Given the description of an element on the screen output the (x, y) to click on. 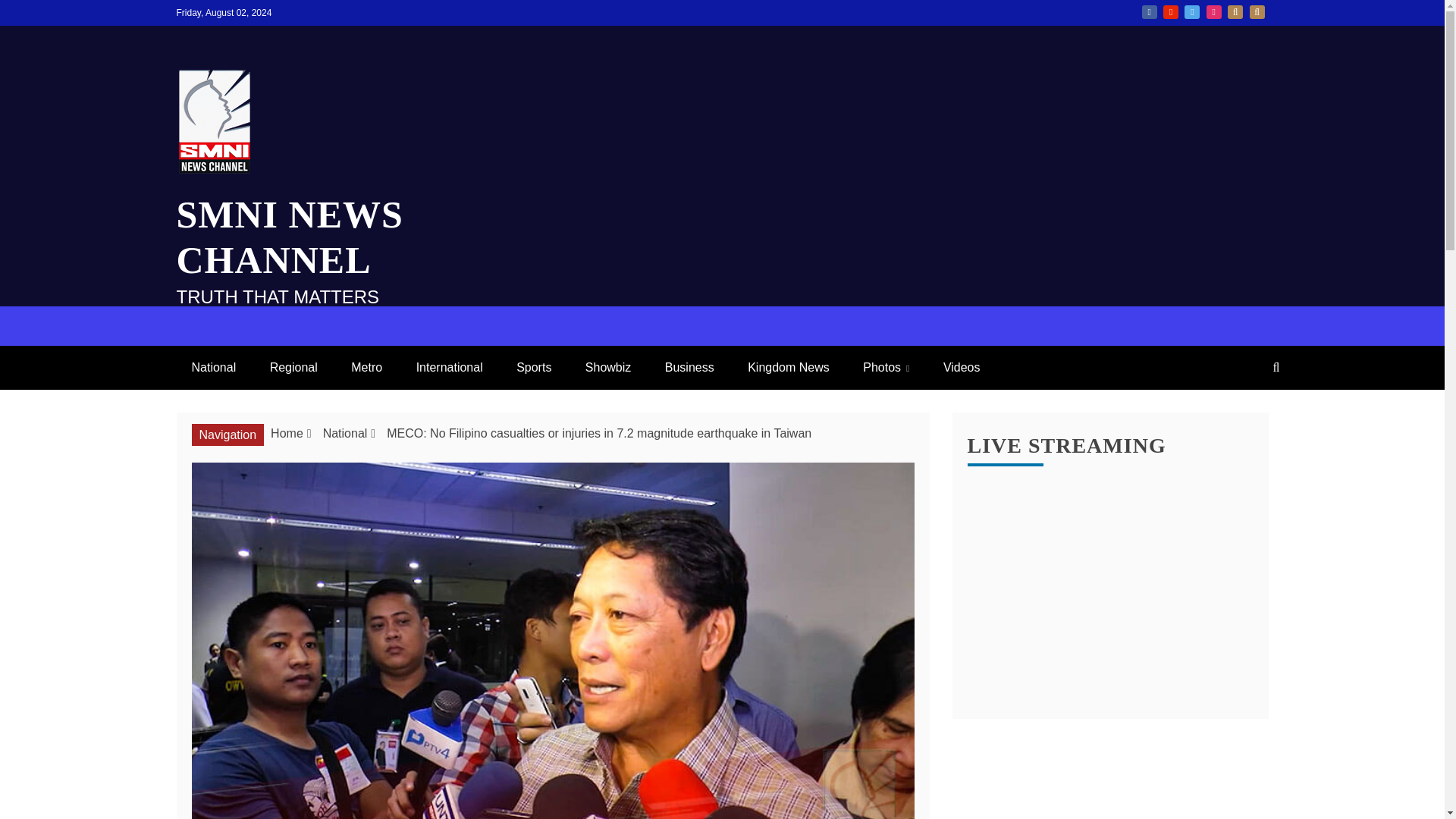
Videos (961, 367)
National (345, 432)
Rumble (1257, 11)
Showbiz (608, 367)
National (213, 367)
Metro (366, 367)
Home (286, 432)
Photos (885, 367)
SMNI NEWS CHANNEL (289, 237)
Menu Item (1214, 11)
